Given the description of an element on the screen output the (x, y) to click on. 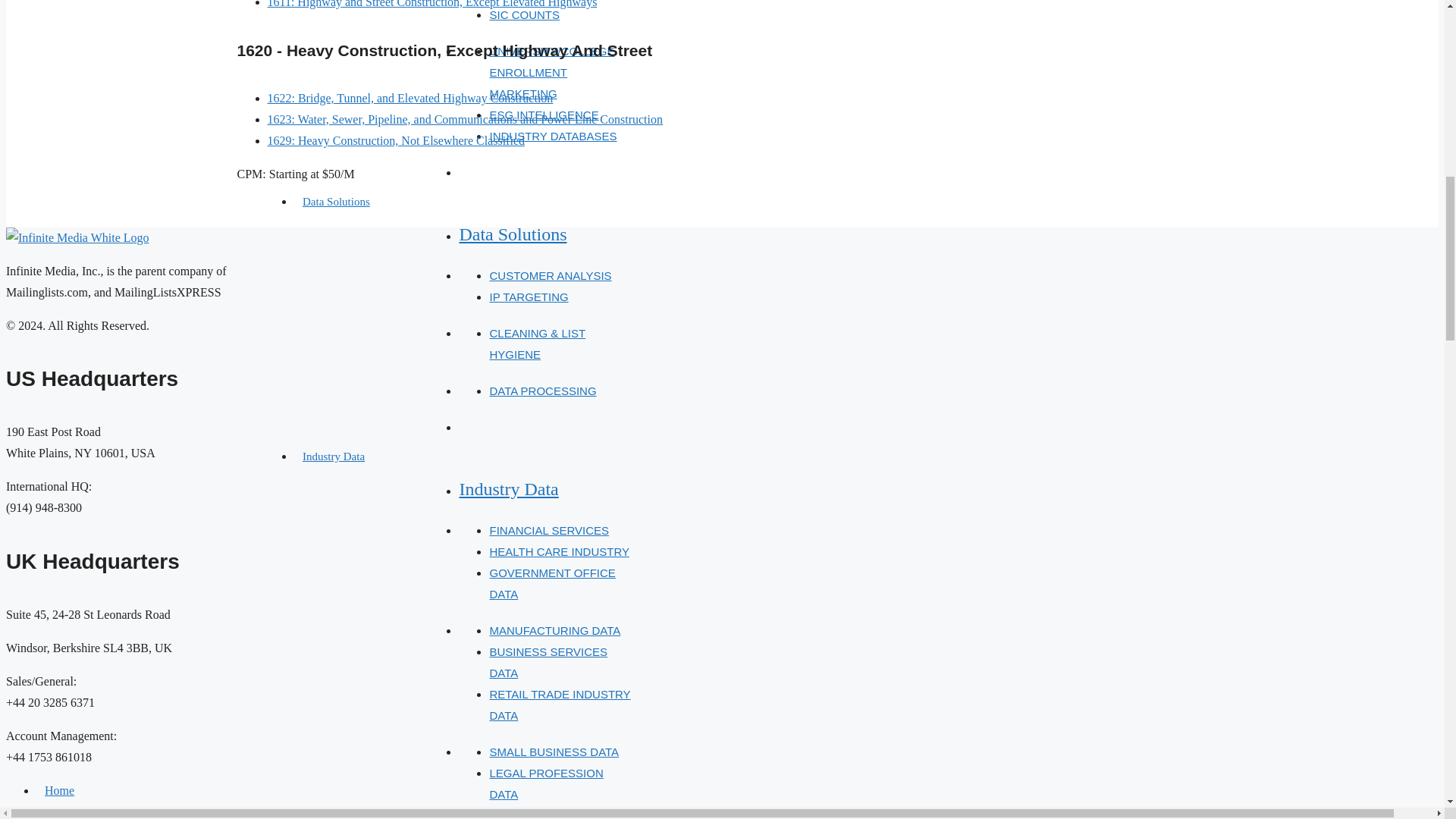
Infinite Media Logo (77, 237)
ESG INTELLIGENCE (543, 114)
SIC COUNTS (524, 14)
INDUSTRY DATABASES (552, 135)
Data Solutions (335, 201)
